Given the description of an element on the screen output the (x, y) to click on. 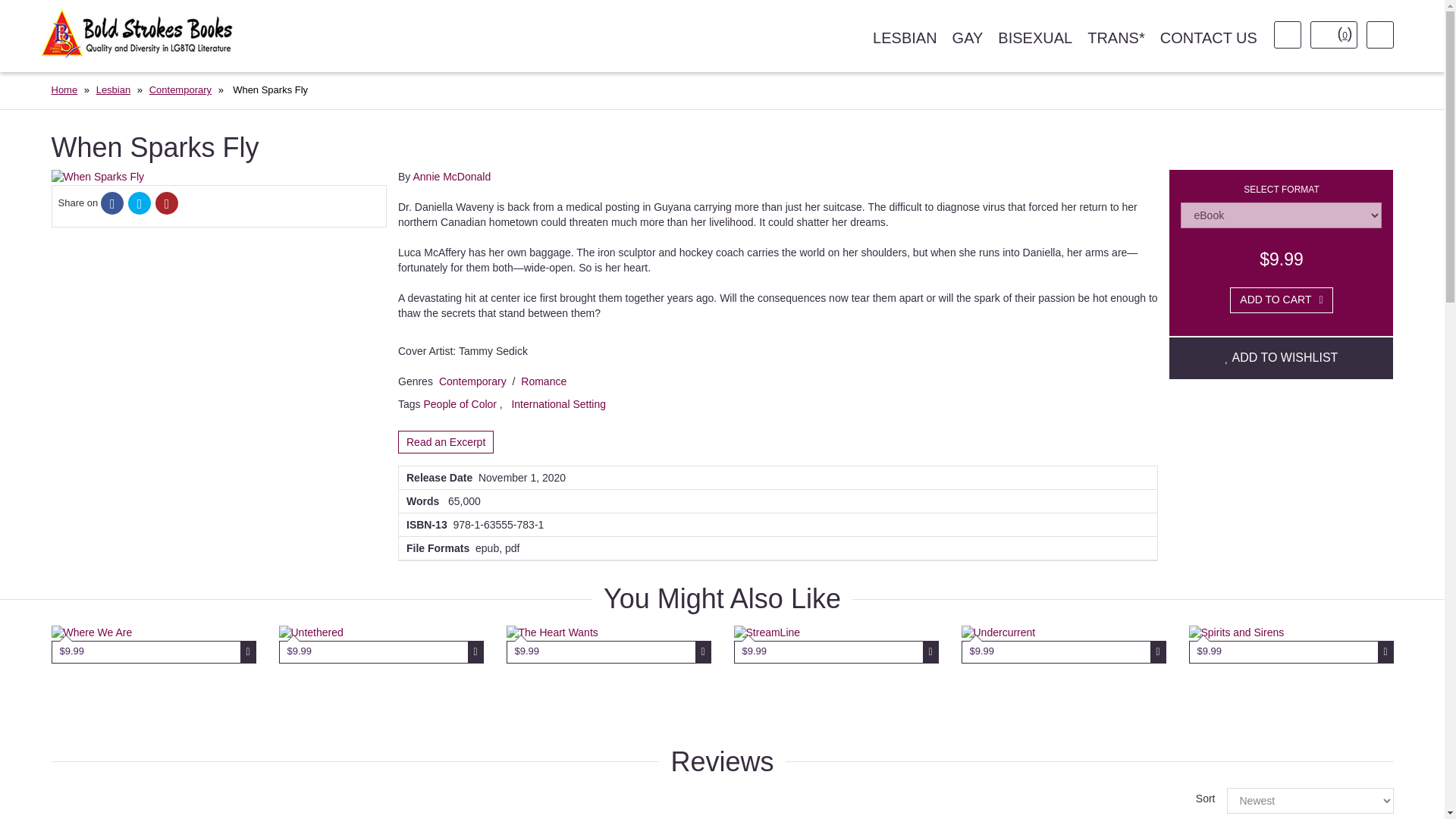
ADD TO CART (1281, 299)
CONTACT US (1209, 37)
Facebook (111, 204)
GAY (967, 37)
Contemporary (472, 381)
LESBIAN (903, 37)
Home (64, 89)
Romance (543, 381)
BISEXUAL (1035, 37)
Contemporary (180, 89)
